Given the description of an element on the screen output the (x, y) to click on. 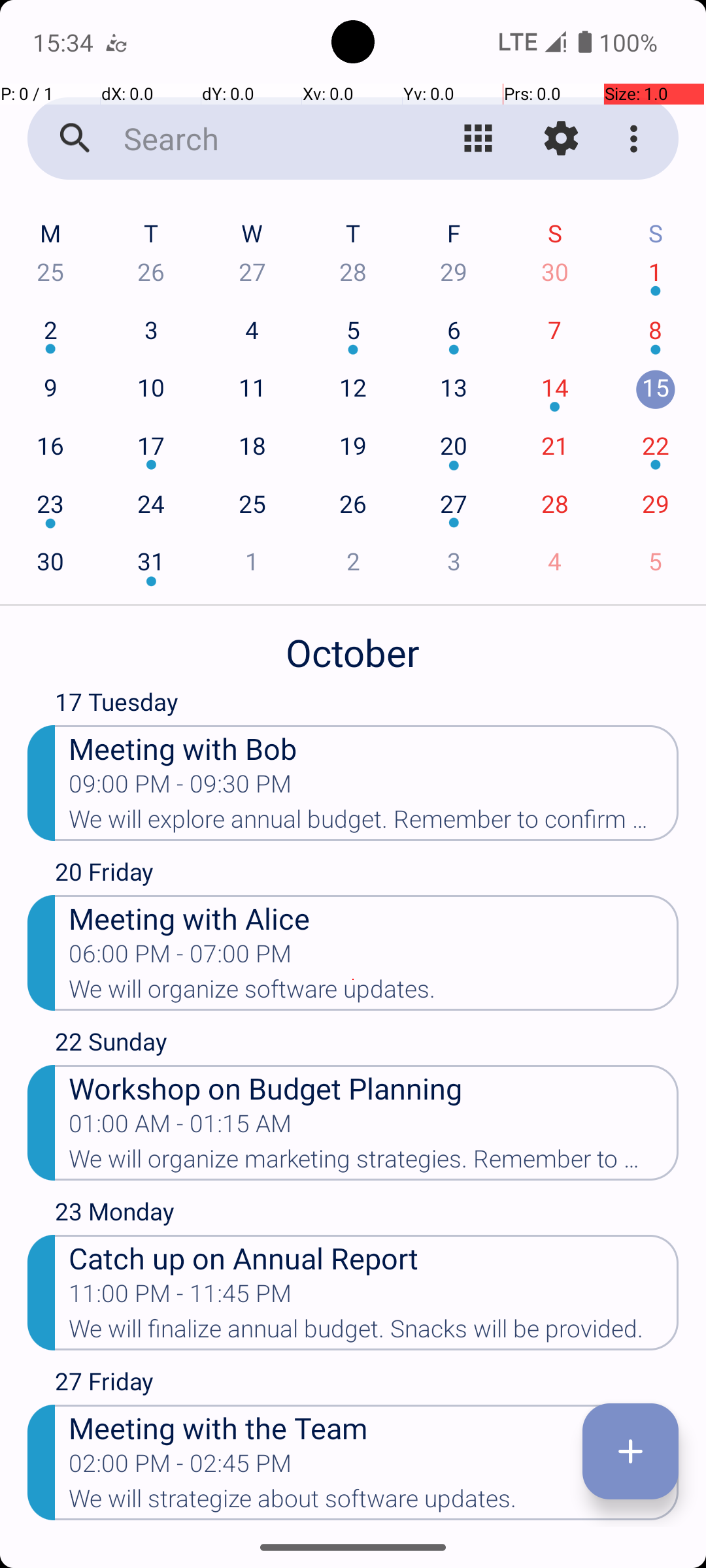
17 Tuesday Element type: android.widget.TextView (366, 704)
20 Friday Element type: android.widget.TextView (366, 874)
22 Sunday Element type: android.widget.TextView (366, 1044)
23 Monday Element type: android.widget.TextView (366, 1214)
27 Friday Element type: android.widget.TextView (366, 1384)
Meeting with Bob Element type: android.widget.TextView (373, 747)
09:00 PM - 09:30 PM Element type: android.widget.TextView (179, 787)
We will explore annual budget. Remember to confirm attendance. Element type: android.widget.TextView (373, 822)
Meeting with Alice Element type: android.widget.TextView (373, 917)
06:00 PM - 07:00 PM Element type: android.widget.TextView (179, 957)
We will organize software updates. Element type: android.widget.TextView (373, 992)
Workshop on Budget Planning Element type: android.widget.TextView (373, 1087)
01:00 AM - 01:15 AM Element type: android.widget.TextView (179, 1127)
We will organize marketing strategies. Remember to confirm attendance. Element type: android.widget.TextView (373, 1162)
11:00 PM - 11:45 PM Element type: android.widget.TextView (179, 1297)
We will finalize annual budget. Snacks will be provided. Element type: android.widget.TextView (373, 1332)
Meeting with the Team Element type: android.widget.TextView (373, 1426)
02:00 PM - 02:45 PM Element type: android.widget.TextView (179, 1467)
We will strategize about software updates. Element type: android.widget.TextView (373, 1502)
